Given the description of an element on the screen output the (x, y) to click on. 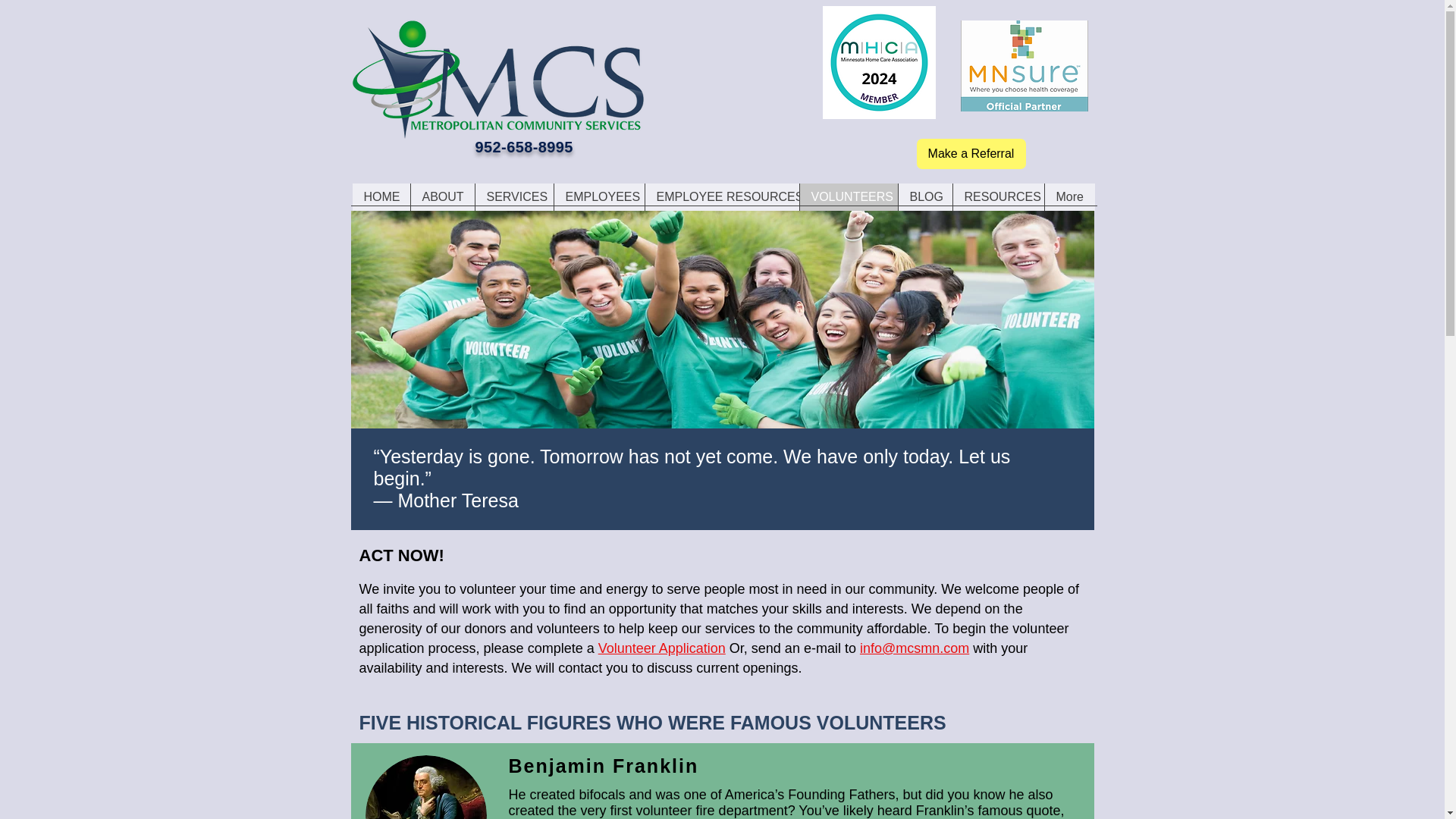
MHCA Member Seal 2024.png (878, 61)
BLOG (925, 196)
VOLUNTEERS (848, 196)
ABOUT (441, 196)
EMPLOYEE RESOURCES (722, 196)
HOME (380, 196)
Make a Referral (970, 153)
Volunteer Application (661, 648)
MNSURE LOGO.png (1023, 65)
Final.jpg (496, 79)
